Given the description of an element on the screen output the (x, y) to click on. 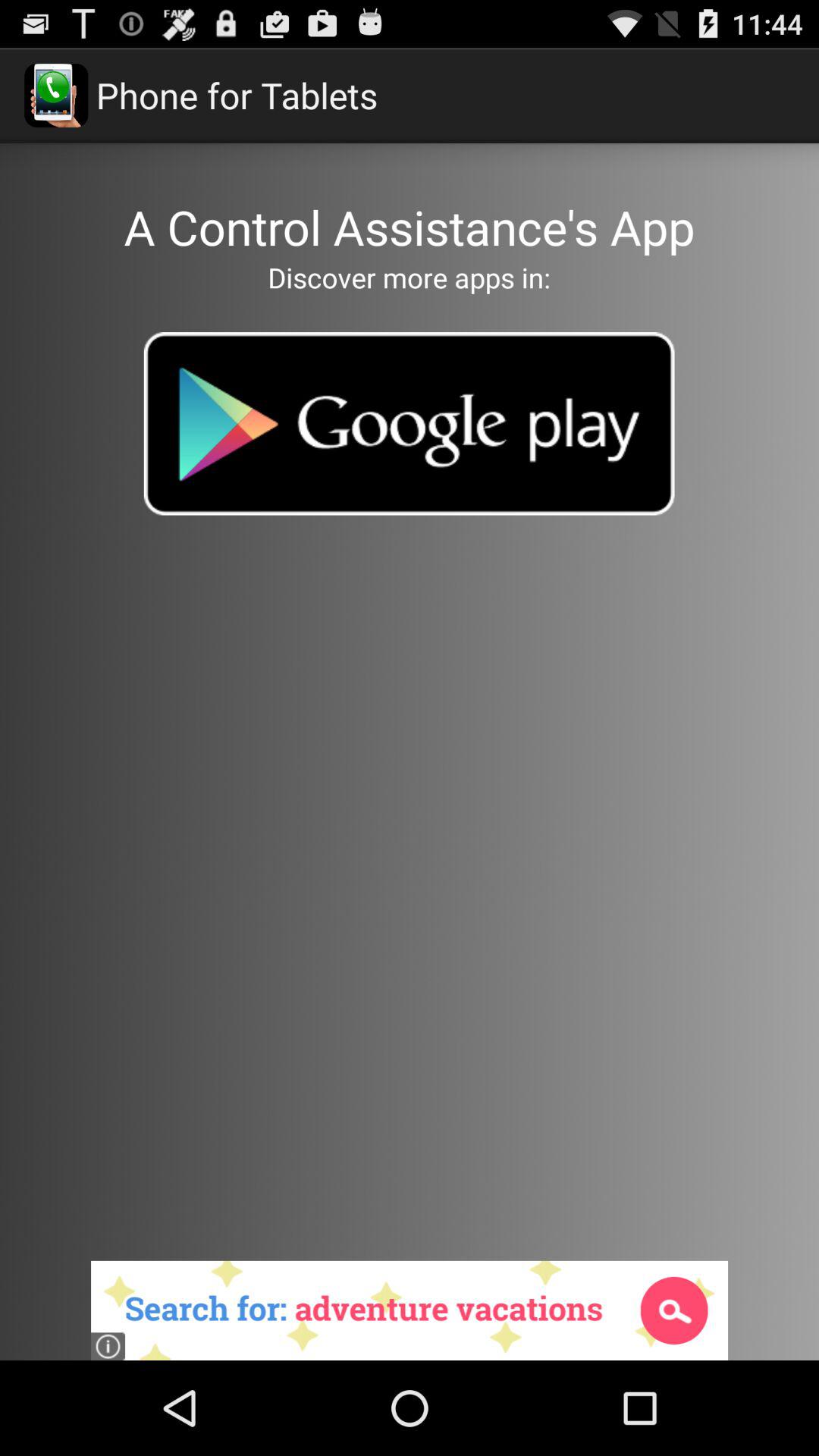
click icon below discover more apps item (408, 423)
